Given the description of an element on the screen output the (x, y) to click on. 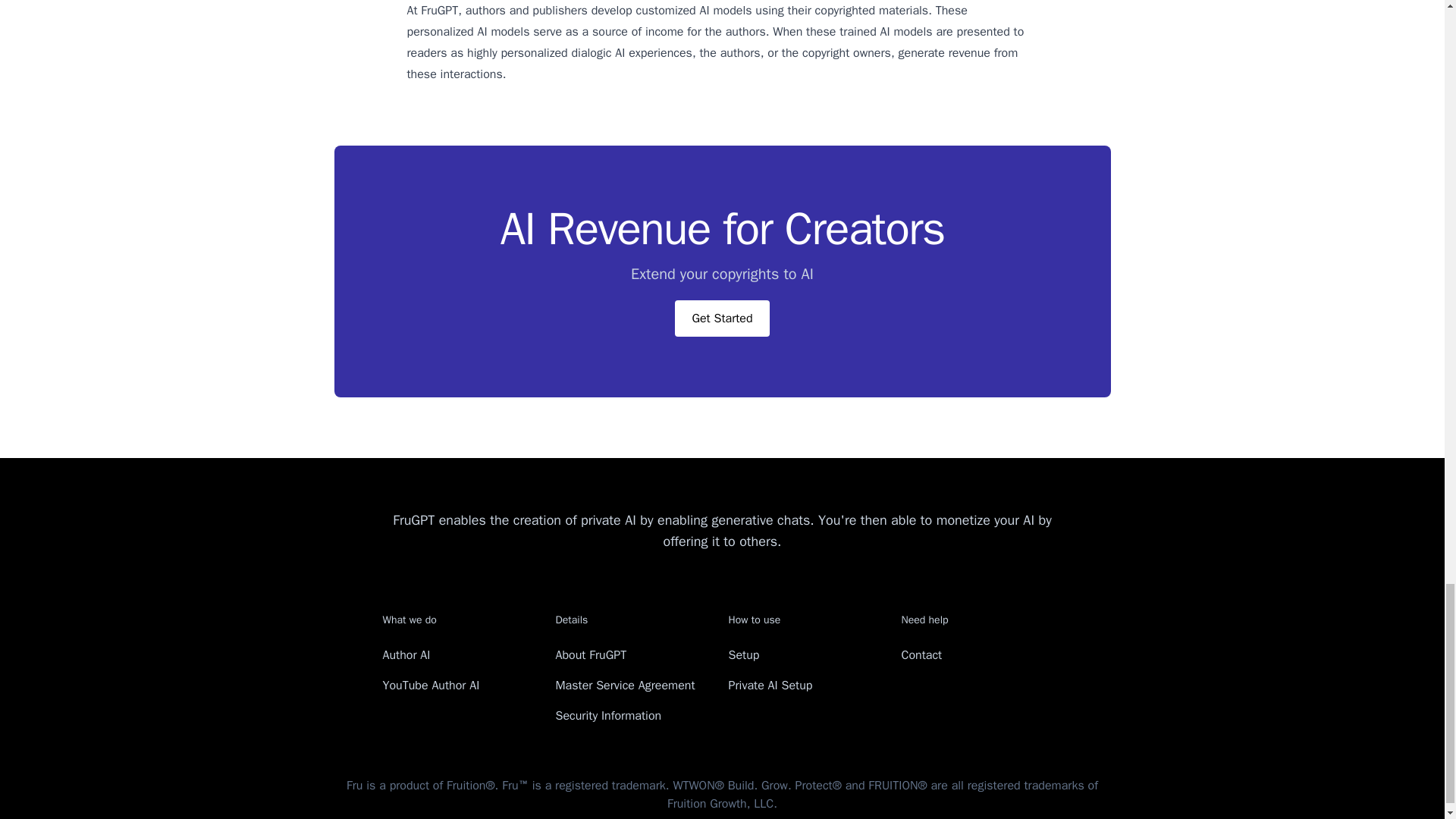
Setup (743, 654)
Contact (921, 654)
Get Started (721, 318)
Security Information (607, 715)
YouTube Author AI (430, 685)
Private AI Setup (770, 685)
Master Service Agreement (624, 685)
About FruGPT (590, 654)
Author AI (405, 654)
